Given the description of an element on the screen output the (x, y) to click on. 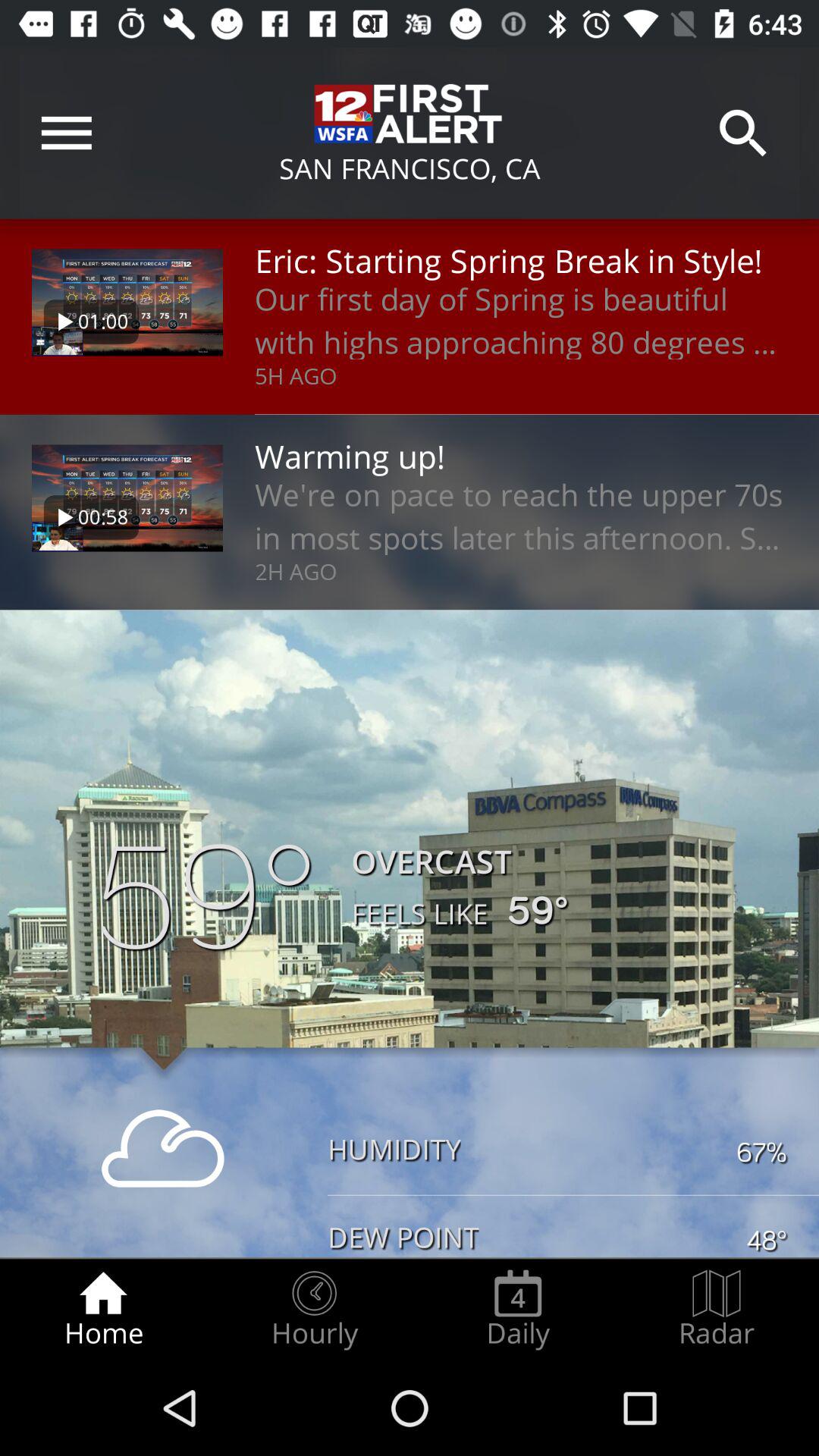
choose radio button next to hourly icon (518, 1309)
